Given the description of an element on the screen output the (x, y) to click on. 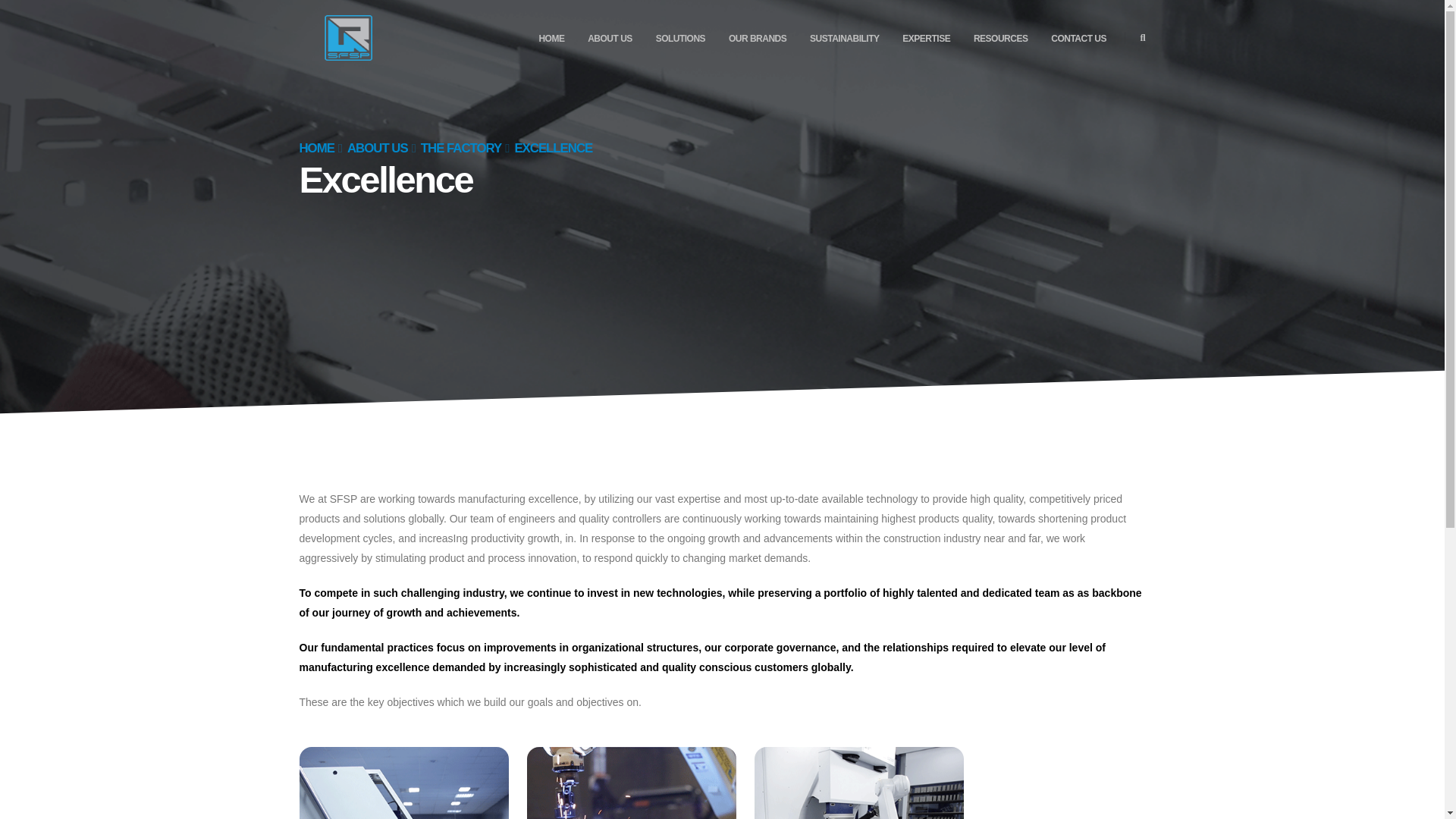
HOME (551, 38)
ABOUT US (609, 38)
SOLUTIONS (680, 38)
